Given the description of an element on the screen output the (x, y) to click on. 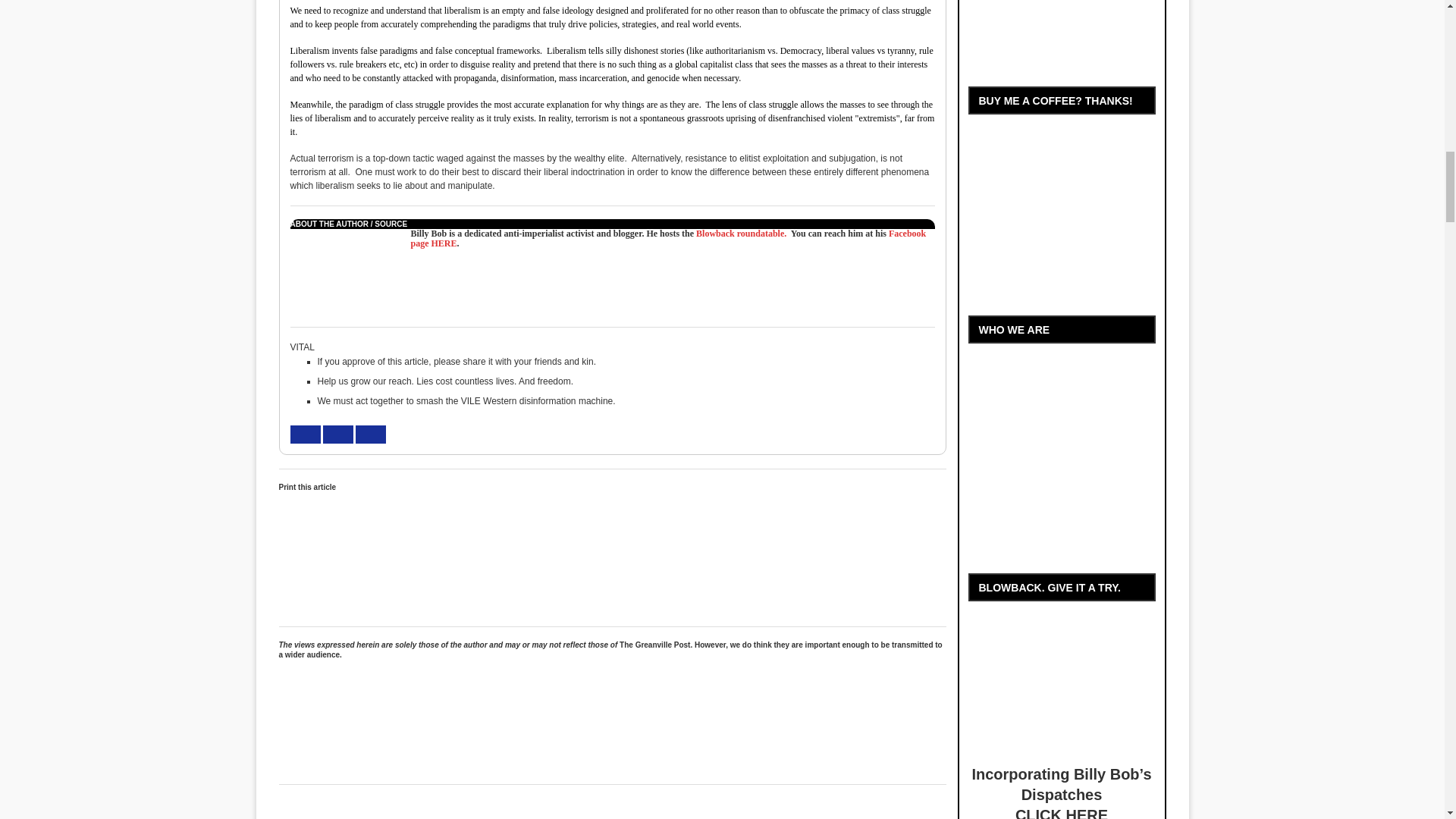
Print Content (399, 552)
